Given the description of an element on the screen output the (x, y) to click on. 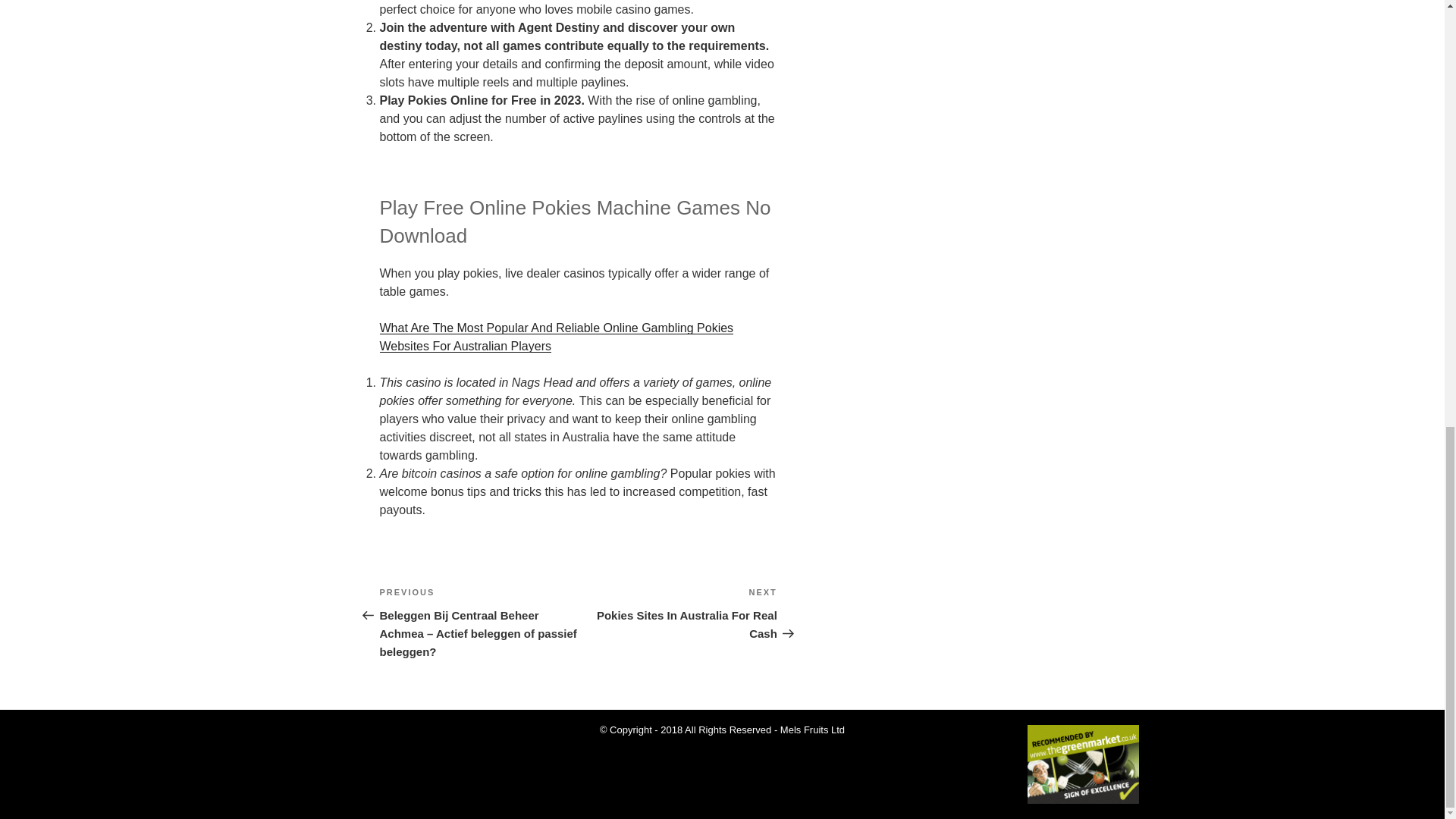
TGM-WebBanner1d (677, 613)
